Given the description of an element on the screen output the (x, y) to click on. 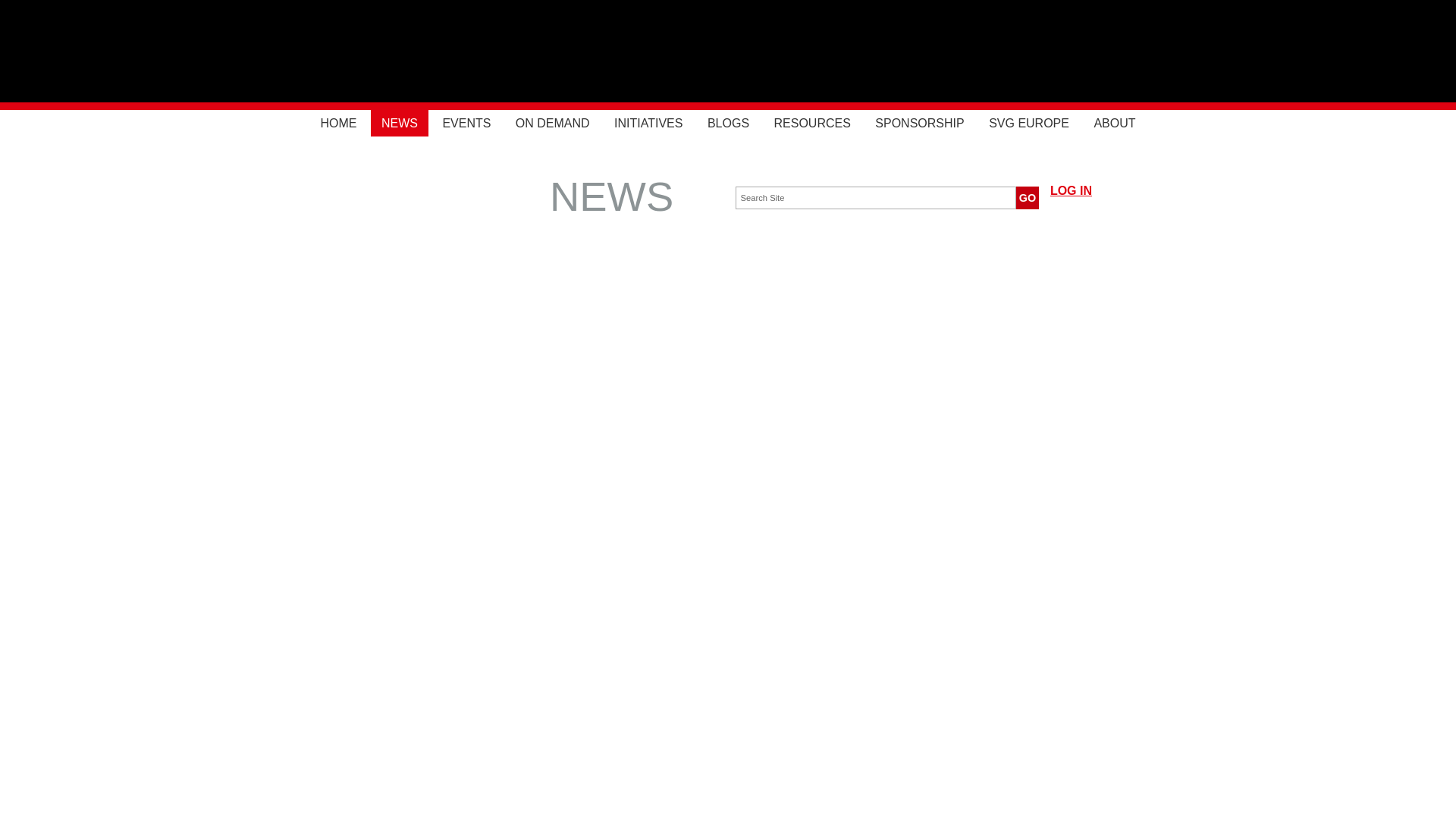
HOME (337, 122)
ON DEMAND (552, 122)
INITIATIVES (648, 122)
EVENTS (465, 122)
GO (1027, 197)
NEWS (399, 122)
BLOGS (728, 122)
